Given the description of an element on the screen output the (x, y) to click on. 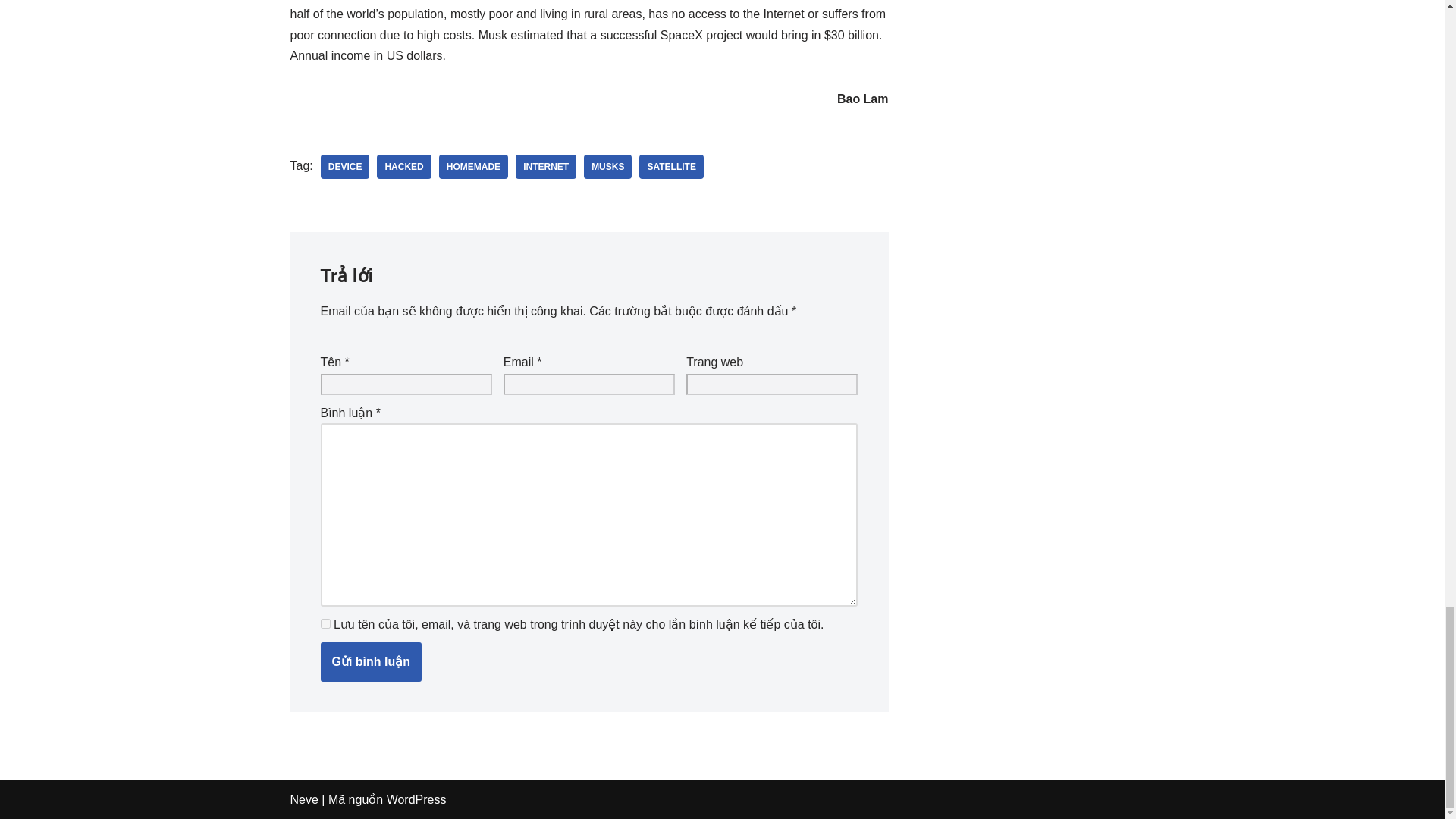
HACKED (403, 166)
INTERNET (545, 166)
homemade (473, 166)
SATELLITE (671, 166)
satellite (671, 166)
device (344, 166)
hacked (403, 166)
internet (545, 166)
HOMEMADE (473, 166)
MUSKS (607, 166)
DEVICE (344, 166)
Musks (607, 166)
yes (325, 623)
